Given the description of an element on the screen output the (x, y) to click on. 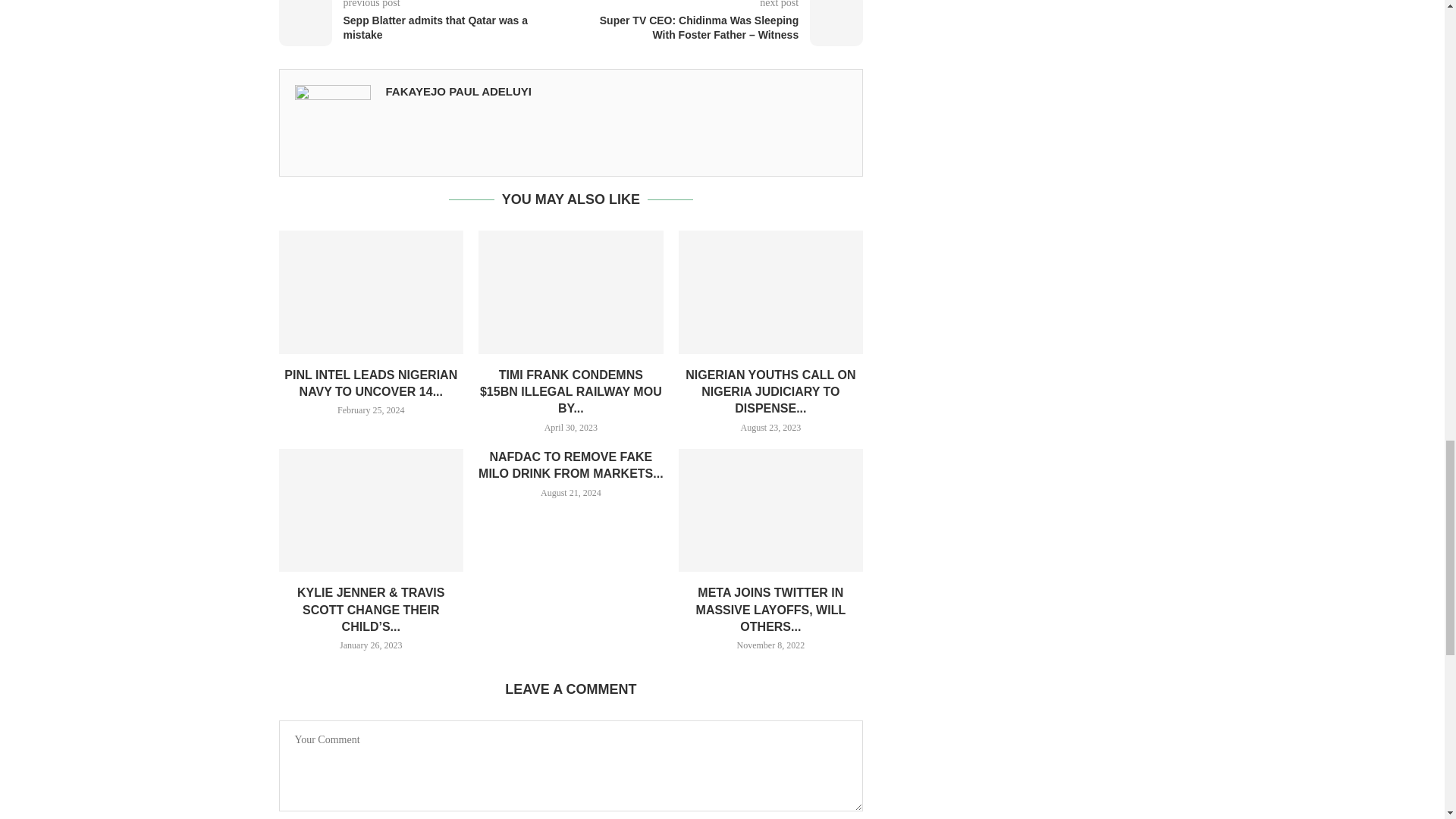
Author Fakayejo Paul Adeluyi (458, 91)
